Given the description of an element on the screen output the (x, y) to click on. 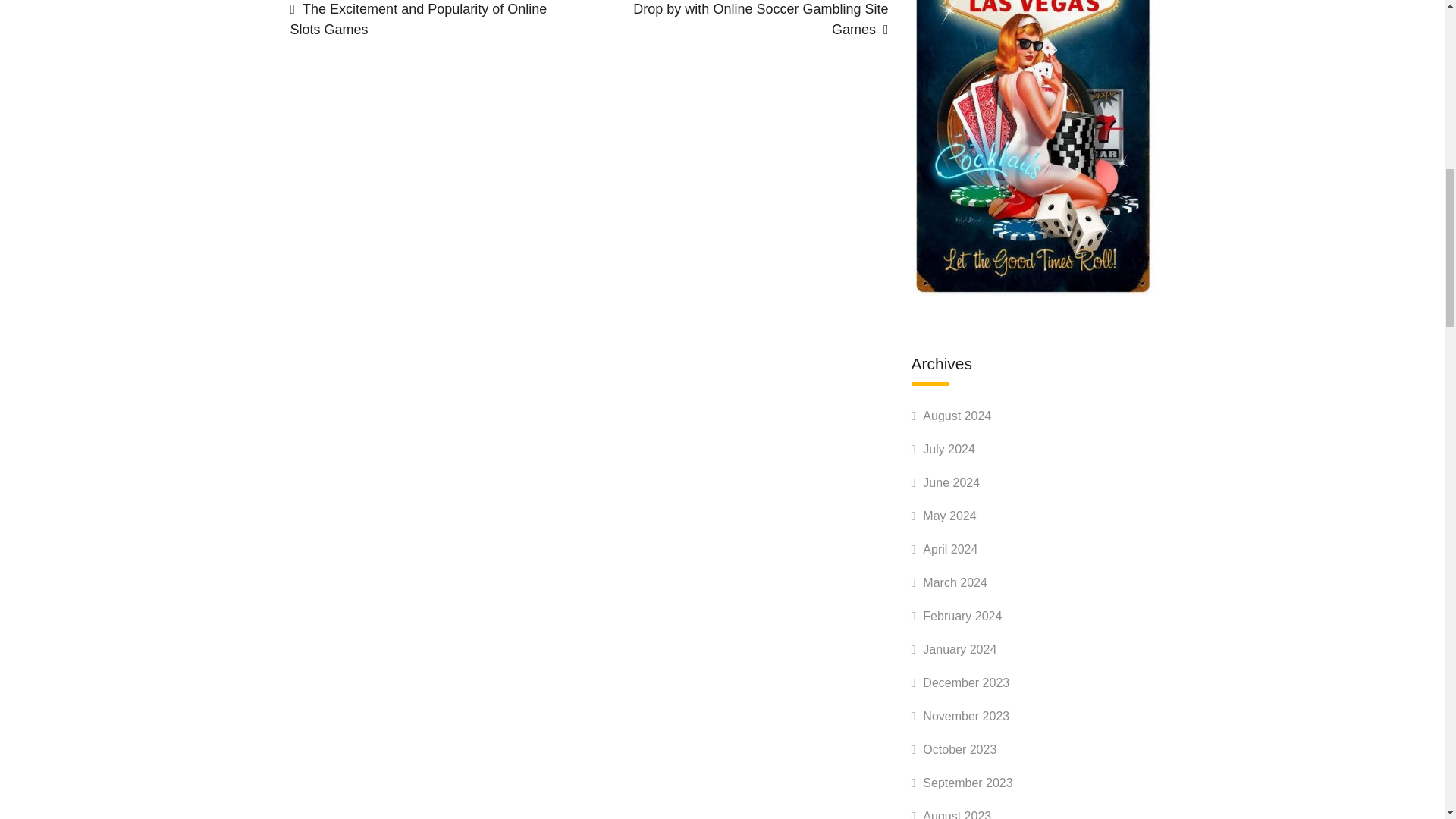
July 2024 (949, 449)
April 2024 (949, 549)
June 2024 (951, 481)
March 2024 (955, 582)
November 2023 (966, 716)
December 2023 (966, 682)
Drop by with Online Soccer Gambling Site Games (760, 18)
January 2024 (959, 649)
February 2024 (962, 615)
August 2024 (957, 415)
